Given the description of an element on the screen output the (x, y) to click on. 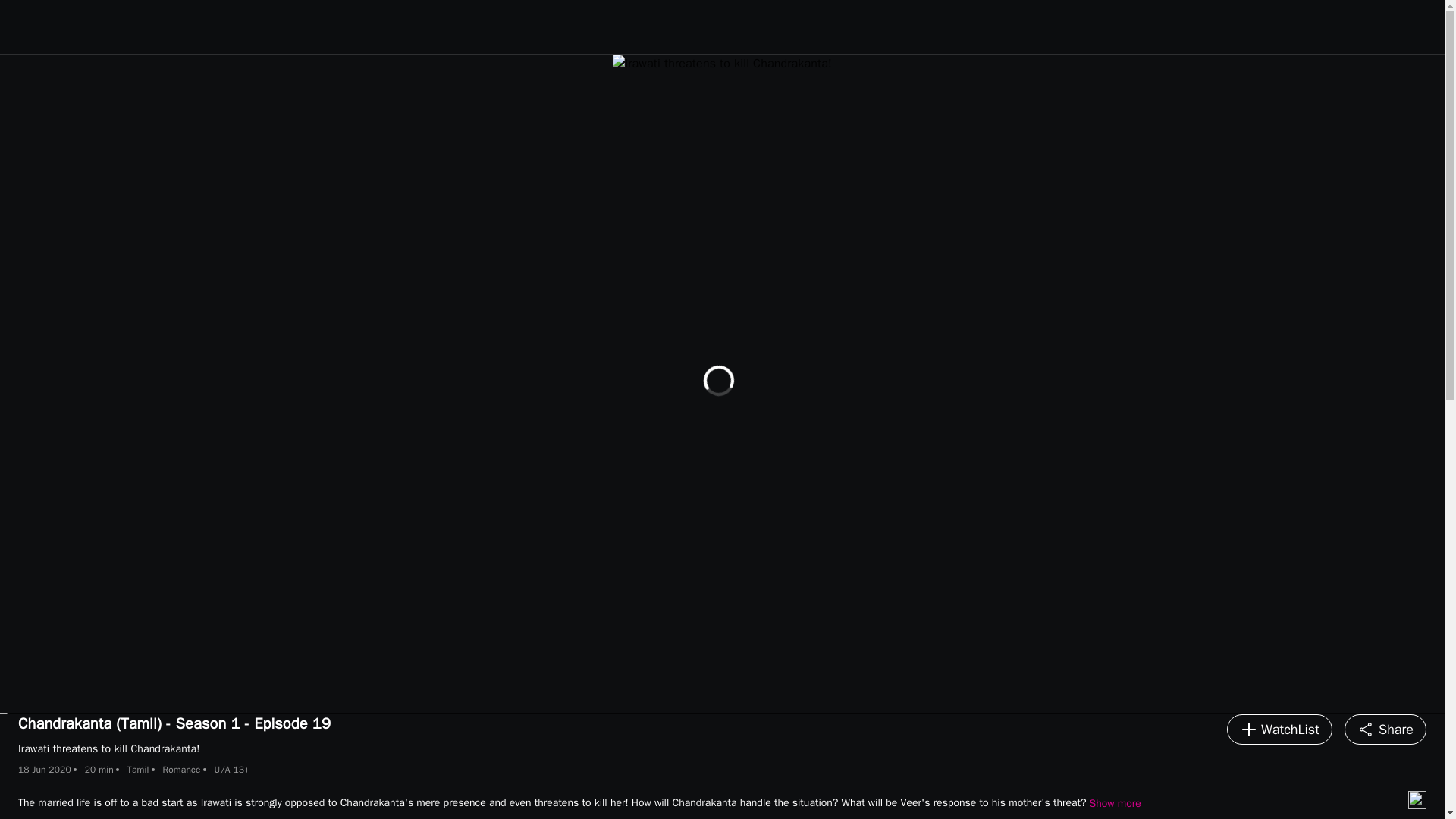
WatchList (1279, 729)
Share (1384, 729)
